Given the description of an element on the screen output the (x, y) to click on. 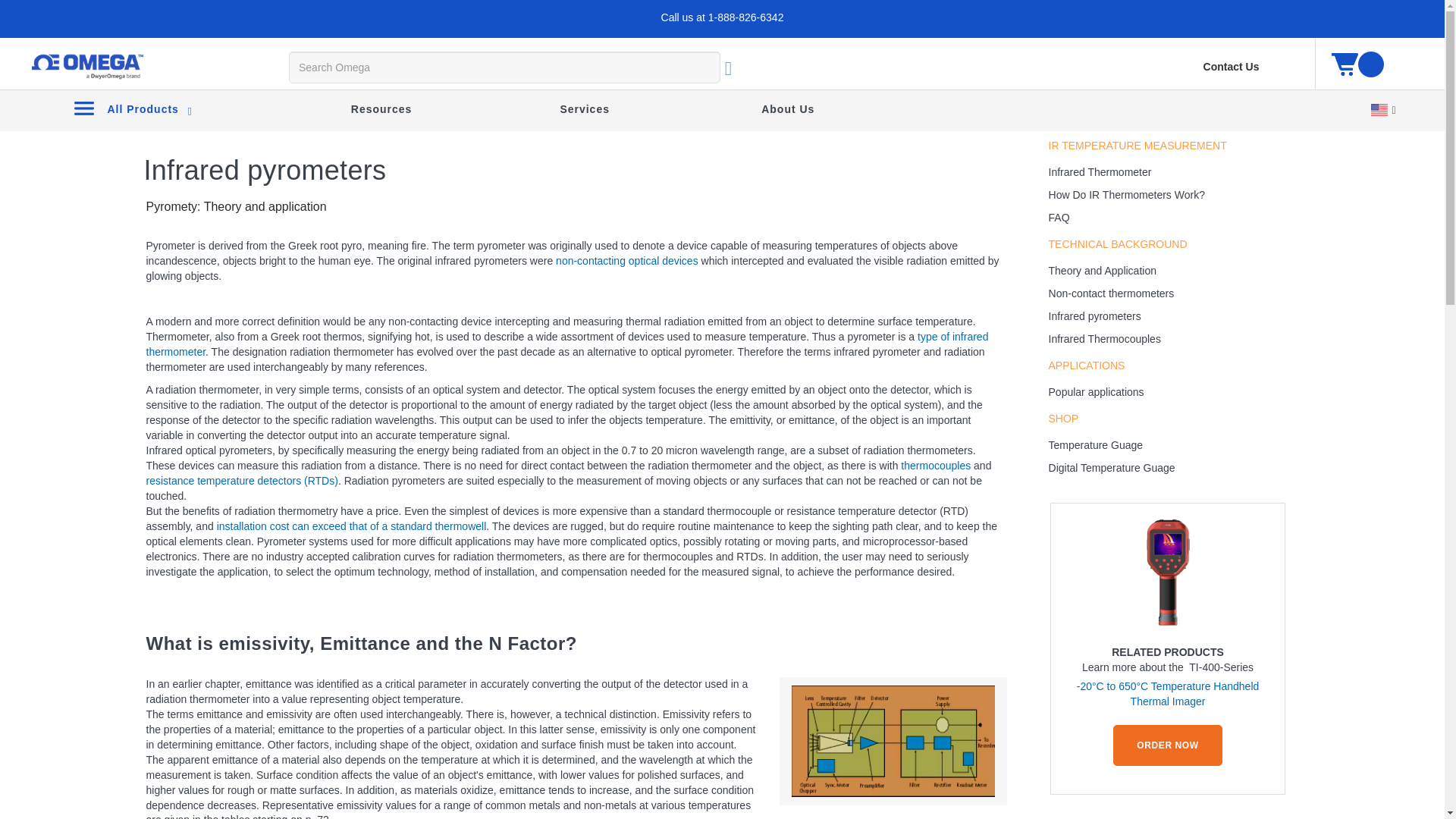
Contact Us (1231, 66)
 Call Omega  (745, 17)
All Products (132, 108)
Contact Us (1231, 66)
All Products (132, 108)
Contact Us (1231, 66)
Skip to search (104, 32)
1-888-826-6342 (745, 17)
OMEGA Engineering (86, 66)
